Given the description of an element on the screen output the (x, y) to click on. 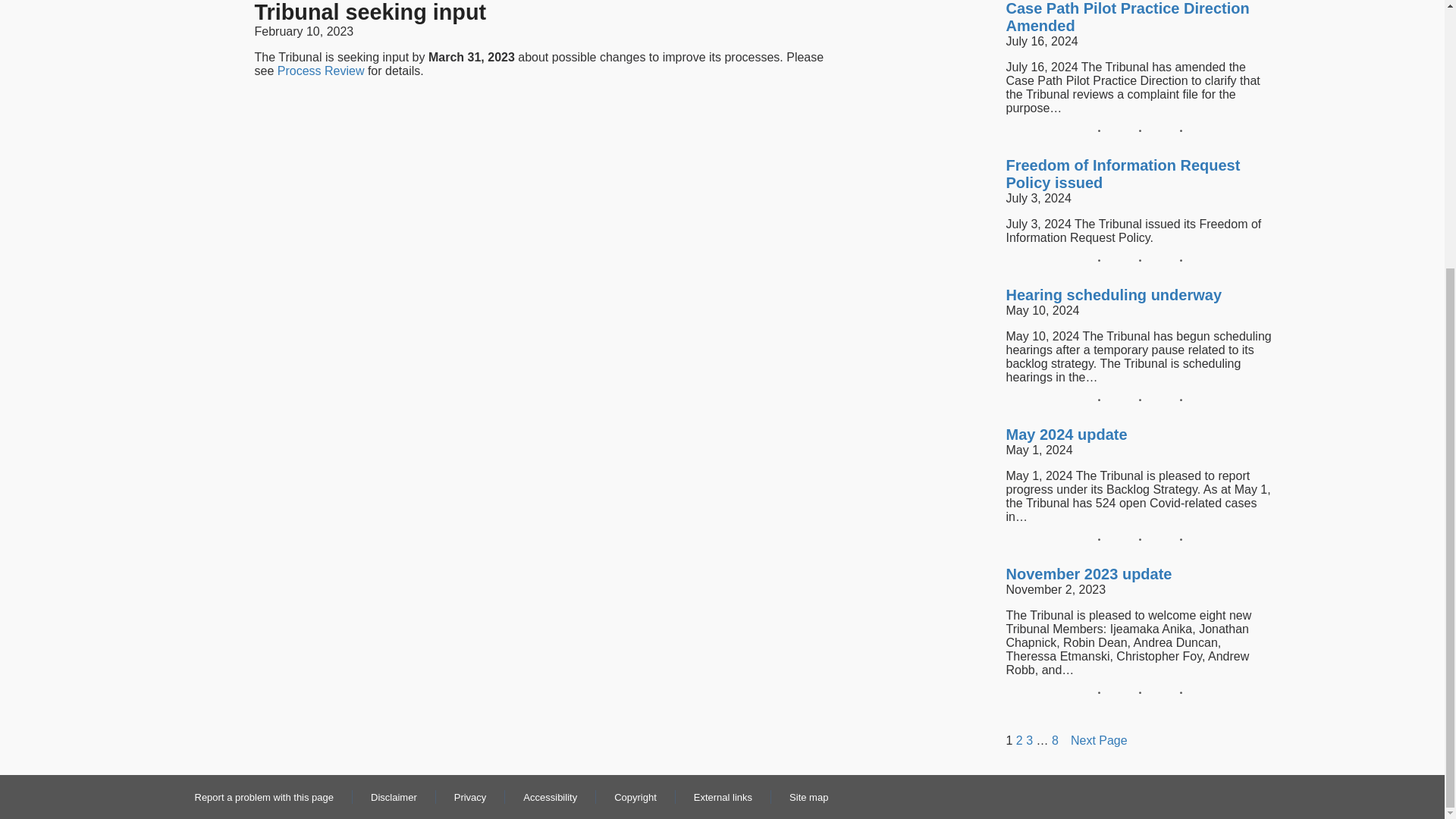
Disclaimer (393, 797)
Report a problem with this page (263, 797)
External links (723, 797)
Case Path Pilot Practice Direction Amended (1140, 17)
November 2023 update (1089, 574)
Process Review (321, 70)
Privacy (470, 797)
May 2024 update (1066, 434)
Next Page (1098, 740)
Copyright (635, 797)
